Given the description of an element on the screen output the (x, y) to click on. 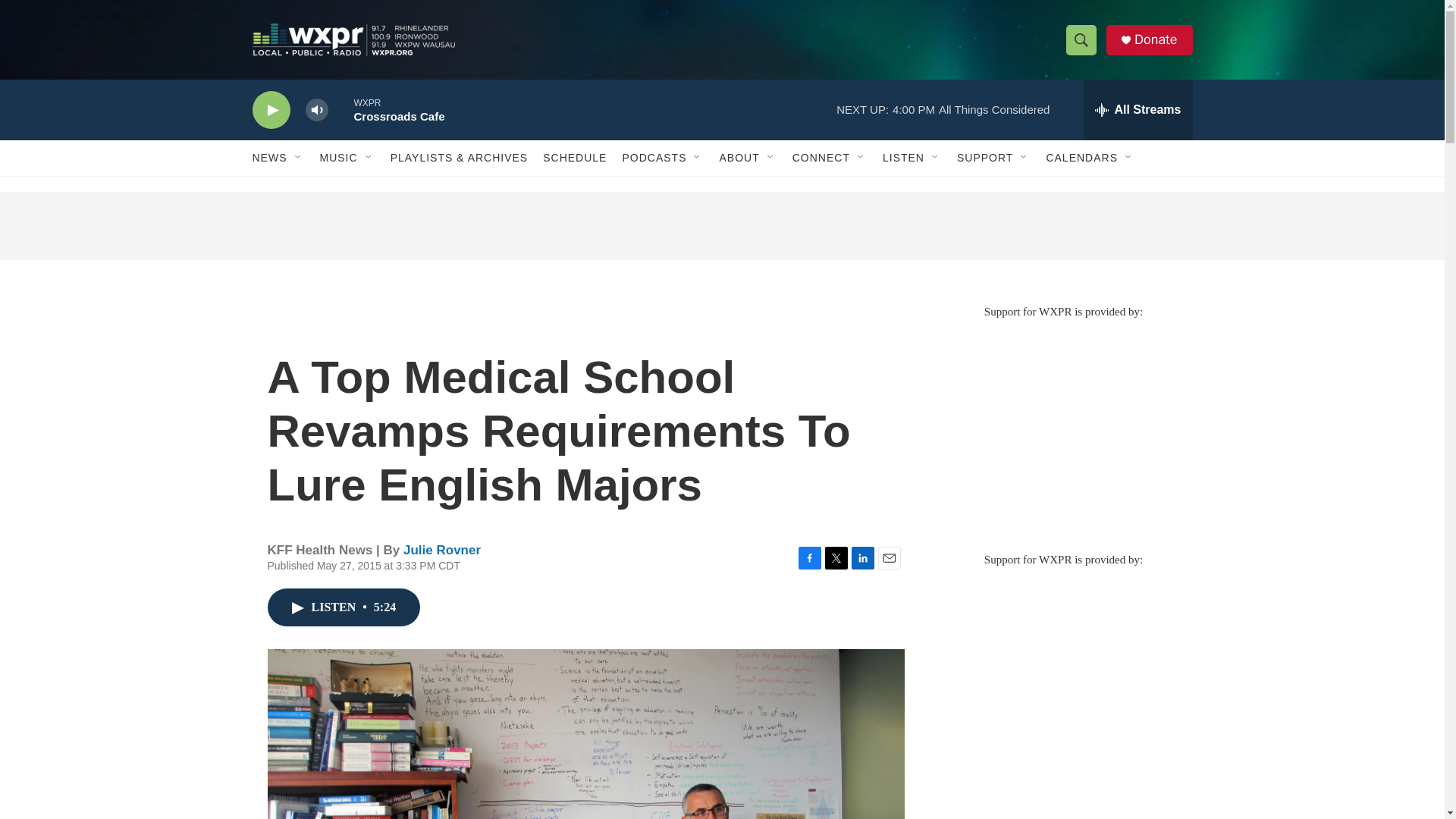
3rd party ad content (721, 225)
3rd party ad content (1062, 677)
3rd party ad content (1062, 428)
